Given the description of an element on the screen output the (x, y) to click on. 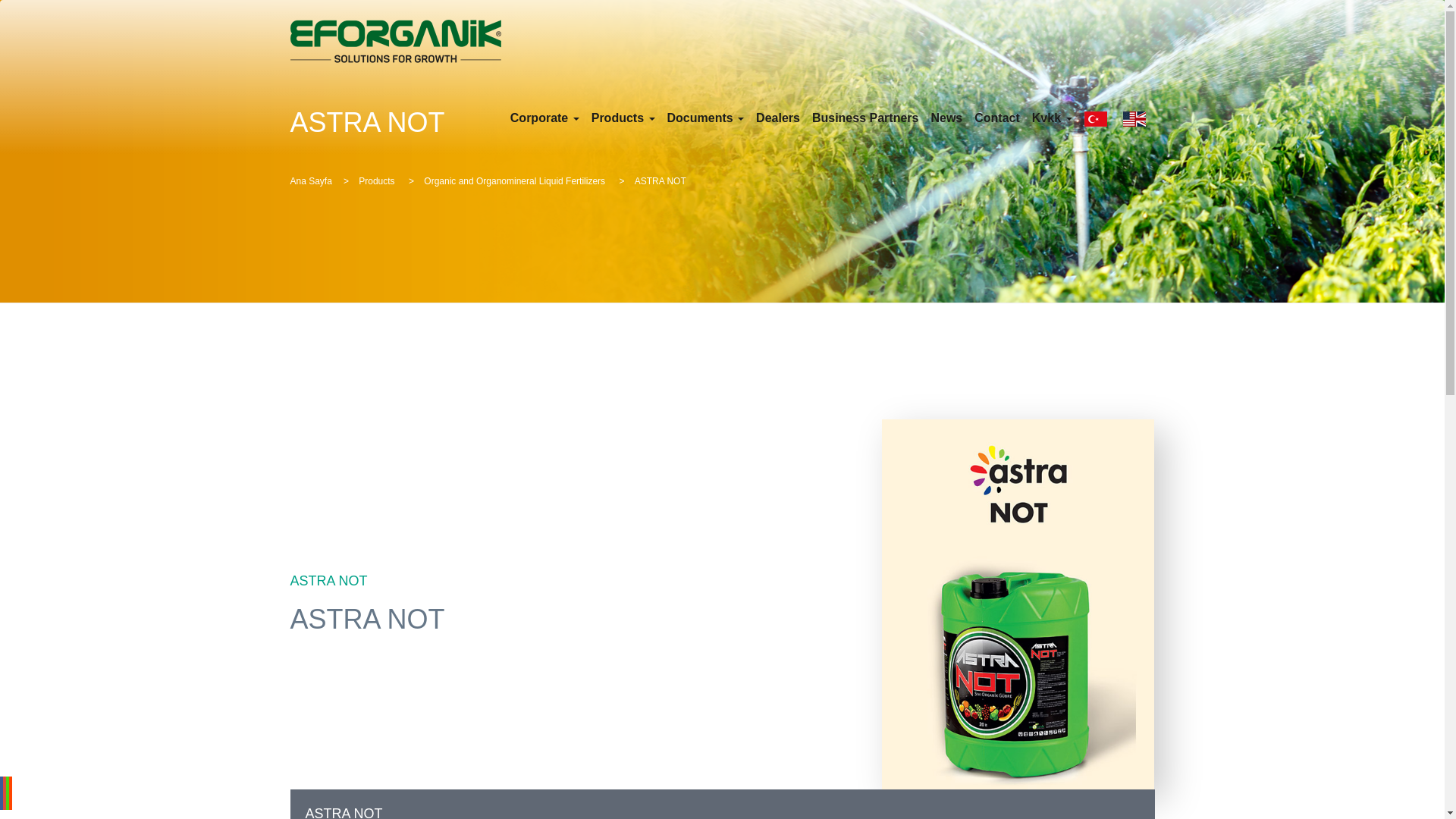
Organic and Organomineral Liquid Fertilizers (515, 181)
Business Partners (864, 117)
ASTRA NOT (721, 804)
Corporate (544, 117)
Ana Sayfa (310, 181)
Products (623, 117)
Business Partners  (864, 117)
Documents (705, 117)
Products (377, 181)
